Given the description of an element on the screen output the (x, y) to click on. 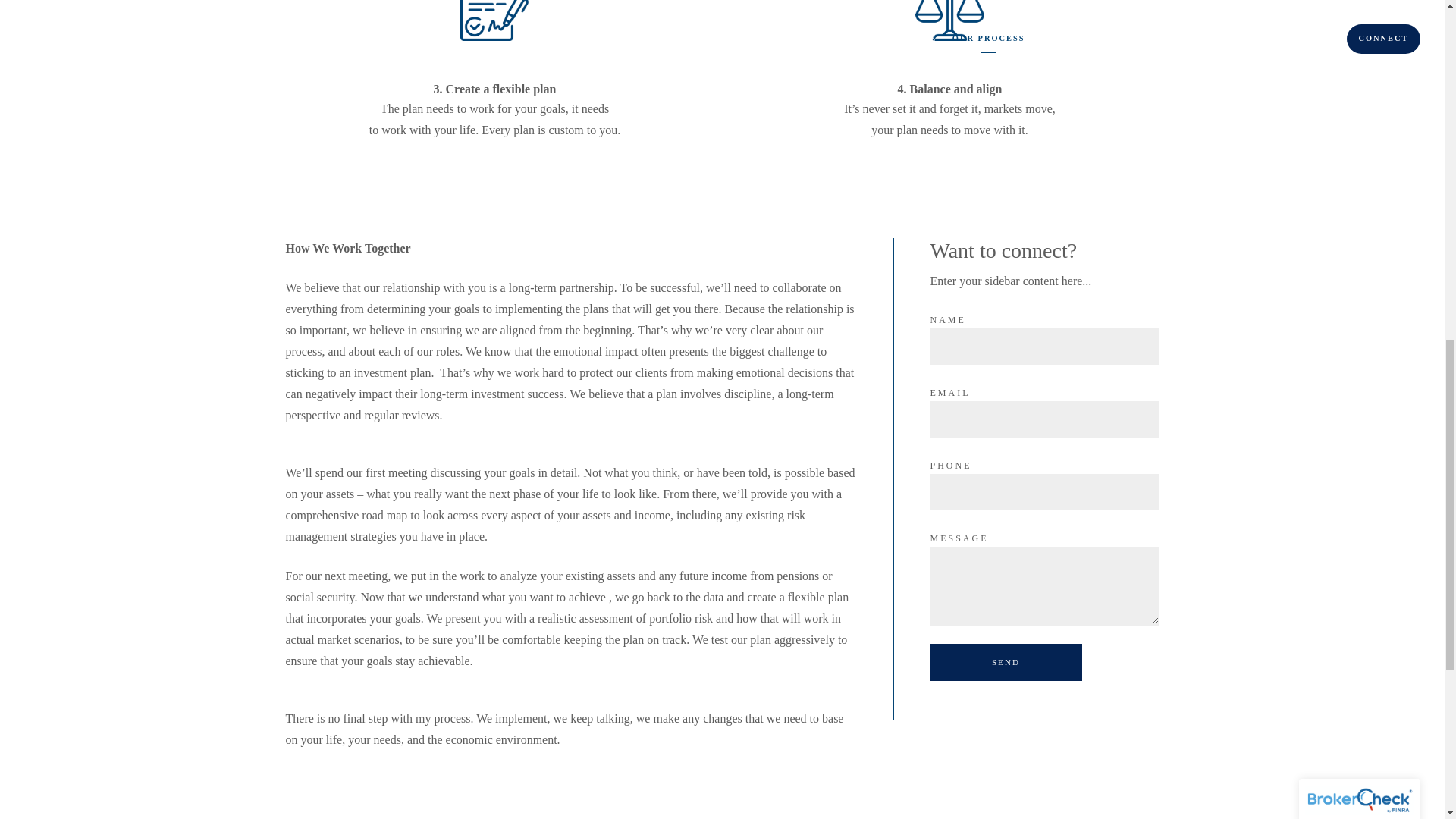
SEND (1005, 661)
